Given the description of an element on the screen output the (x, y) to click on. 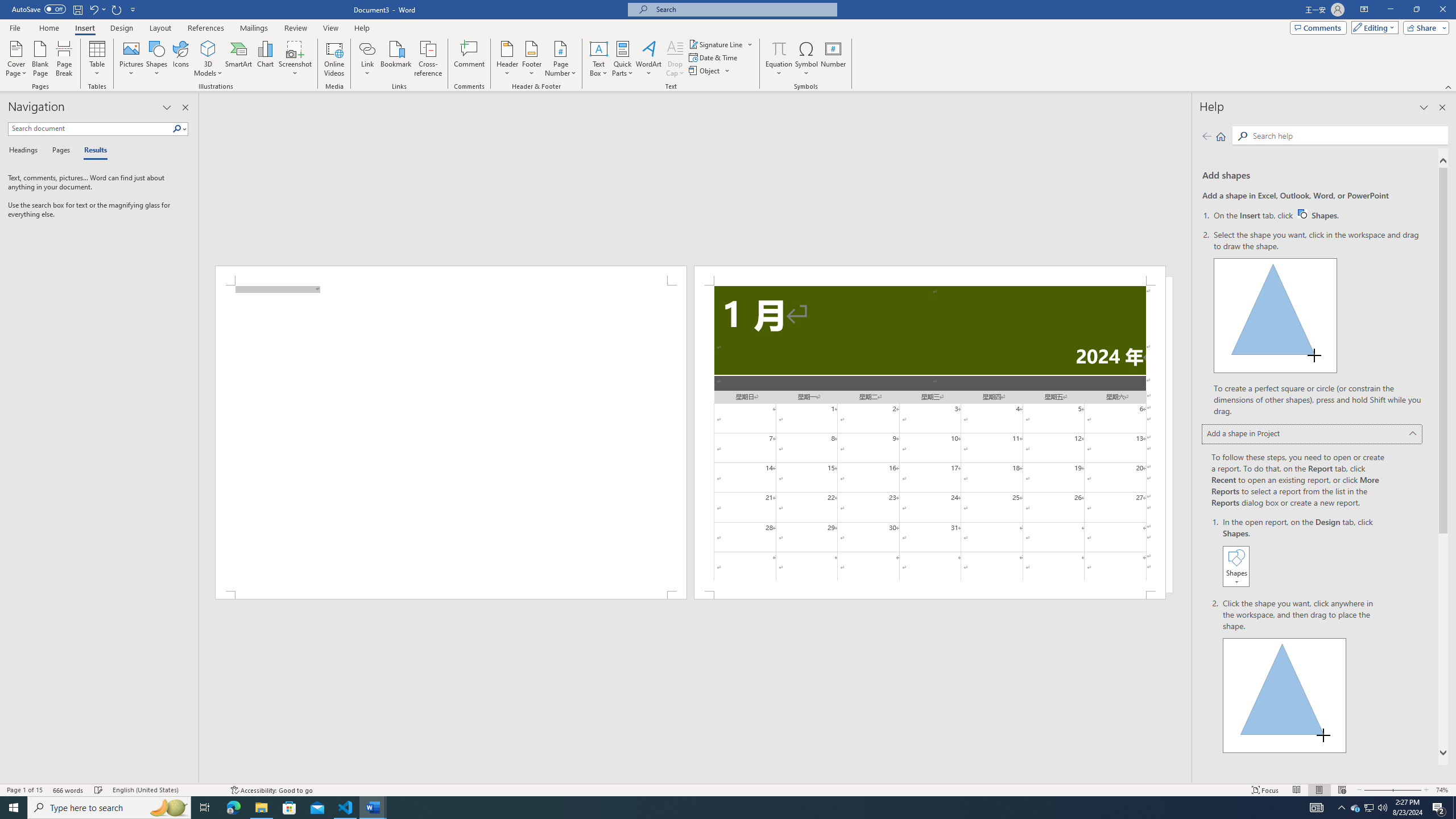
Cross-reference... (428, 58)
Undo New Page (92, 9)
Undo New Page (96, 9)
Chart... (265, 58)
Insert Shapes button (1236, 566)
Cover Page (16, 58)
